Given the description of an element on the screen output the (x, y) to click on. 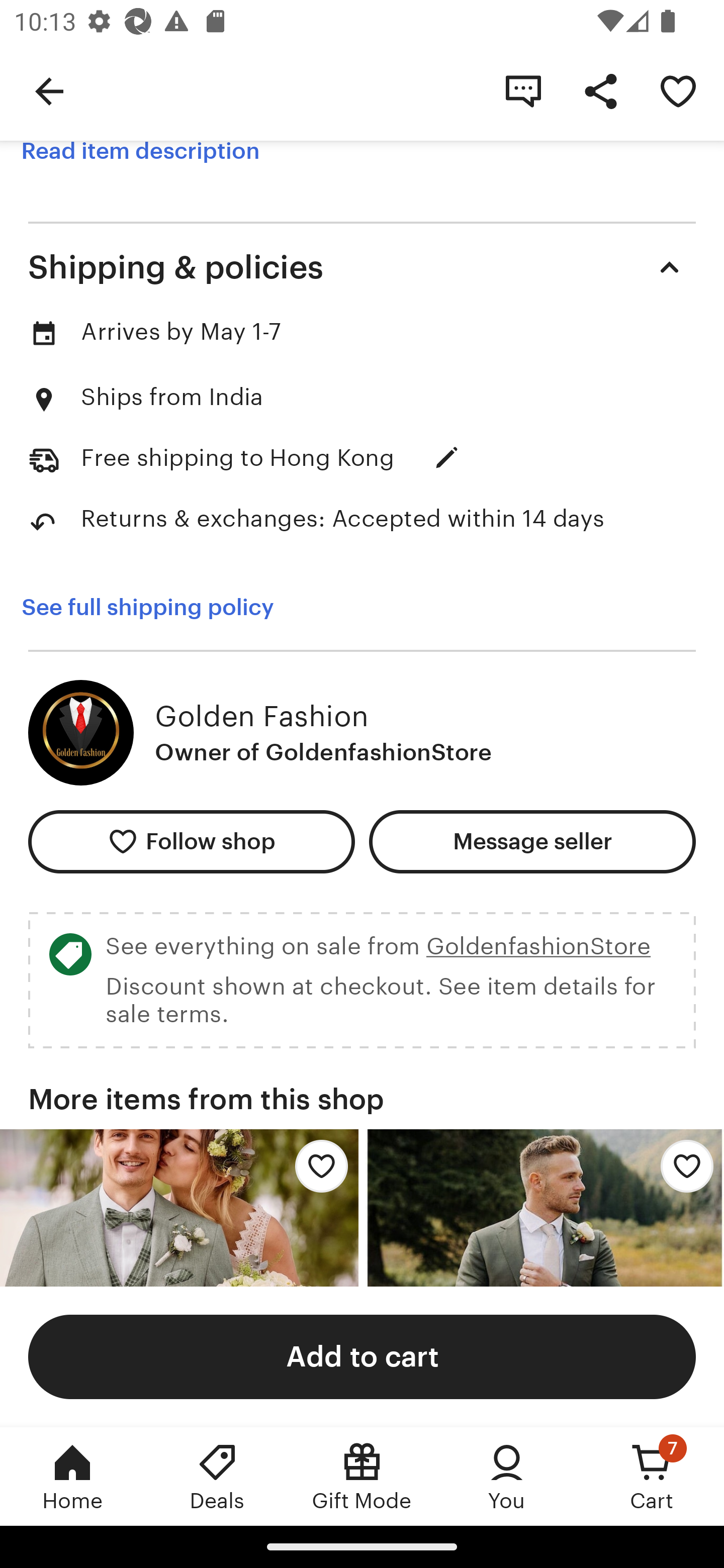
Navigate up (49, 90)
Contact shop (523, 90)
Share (600, 90)
Read item description (140, 150)
Shipping & policies (362, 267)
Update (446, 457)
See full shipping policy (161, 607)
Follow shop Follow GoldenfashionStore (191, 841)
Message seller (532, 841)
Add to cart (361, 1355)
Deals (216, 1475)
Gift Mode (361, 1475)
You (506, 1475)
Cart, 7 new notifications Cart (651, 1475)
